Given the description of an element on the screen output the (x, y) to click on. 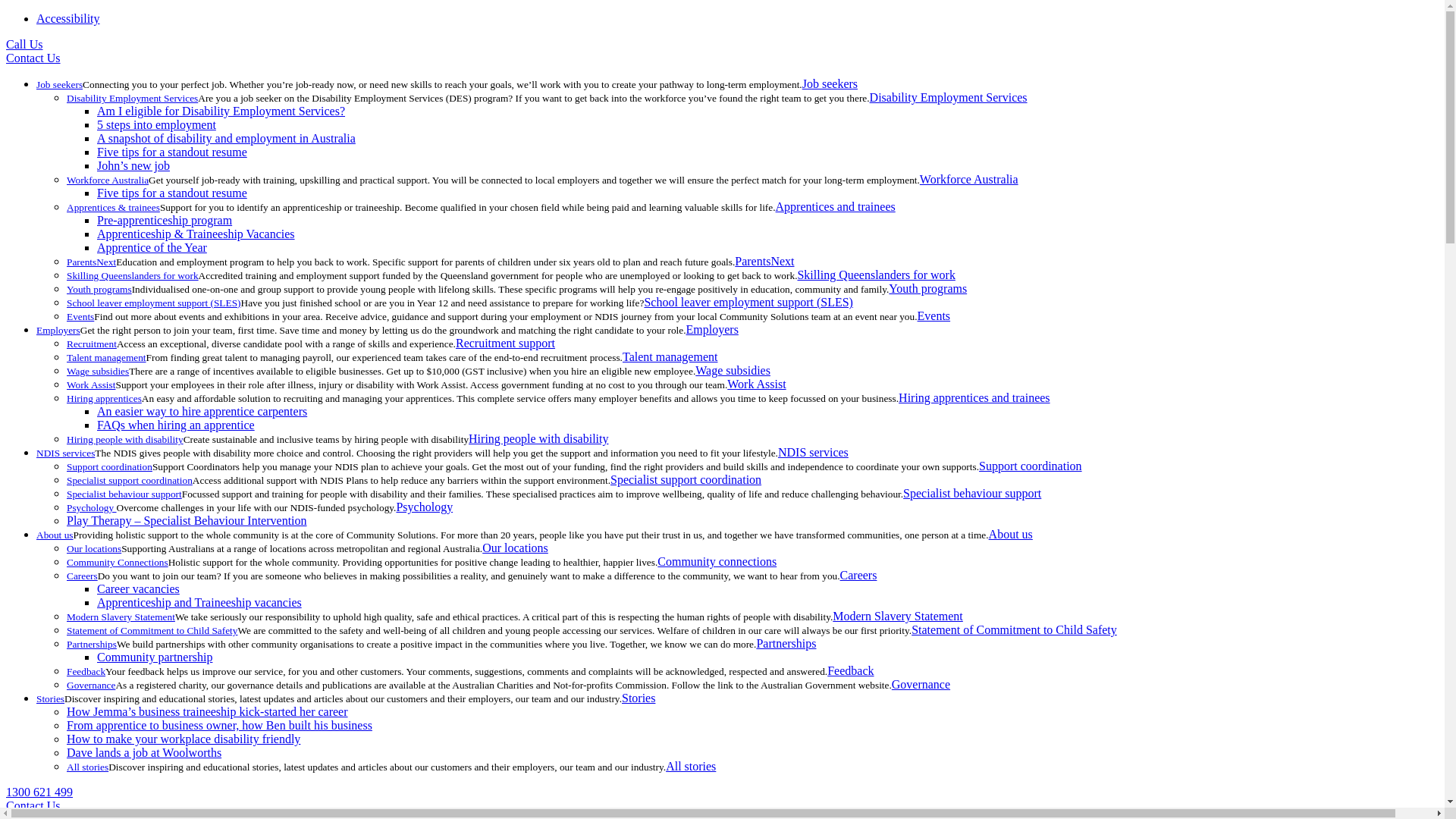
Our locations Element type: text (515, 547)
Disability Employment Services Element type: text (131, 97)
Five tips for a standout resume Element type: text (172, 192)
Accessibility Element type: text (68, 18)
Employers Element type: text (712, 329)
A snapshot of disability and employment in Australia Element type: text (226, 137)
Skilling Queenslanders for work Element type: text (875, 274)
Talent management Element type: text (106, 357)
Support coordination Element type: text (109, 466)
FAQs when hiring an apprentice Element type: text (175, 424)
Events Element type: text (933, 315)
Pre-apprenticeship program Element type: text (164, 219)
Modern Slavery Statement Element type: text (120, 616)
Specialist behaviour support Element type: text (124, 493)
1300 621 499 Element type: text (39, 791)
About us Element type: text (1010, 533)
About us Element type: text (54, 534)
Work Assist Element type: text (90, 384)
Hiring people with disability Element type: text (124, 439)
Stories Element type: text (50, 698)
NDIS services Element type: text (65, 452)
Apprentices & trainees Element type: text (113, 207)
Recruitment support Element type: text (505, 342)
Community Connections Element type: text (117, 561)
Work Assist Element type: text (756, 383)
All stories Element type: text (87, 766)
Call Us Element type: text (24, 43)
Events Element type: text (80, 316)
Statement of Commitment to Child Safety Element type: text (151, 630)
Wage subsidies Element type: text (97, 370)
Dave lands a job at Woolworths Element type: text (143, 752)
Five tips for a standout resume Element type: text (172, 151)
Community partnership Element type: text (154, 656)
Workforce Australia Element type: text (968, 178)
5 steps into employment Element type: text (156, 124)
Community connections Element type: text (716, 561)
Stories Element type: text (638, 697)
Specialist support coordination Element type: text (129, 480)
ParentsNext Element type: text (91, 261)
Statement of Commitment to Child Safety Element type: text (1014, 629)
ParentsNext Element type: text (763, 260)
Apprentices and trainees Element type: text (835, 206)
Workforce Australia Element type: text (107, 179)
Wage subsidies Element type: text (732, 370)
Career vacancies Element type: text (138, 588)
Specialist support coordination Element type: text (685, 479)
Hiring people with disability Element type: text (538, 438)
Youth programs Element type: text (98, 288)
Job seekers Element type: text (829, 83)
Hiring apprentices Element type: text (103, 398)
Hiring apprentices and trainees Element type: text (973, 397)
Am I eligible for Disability Employment Services? Element type: text (221, 110)
How to make your workplace disability friendly Element type: text (183, 738)
Employers Element type: text (58, 329)
Careers Element type: text (81, 575)
Apprenticeship and Traineeship vacancies Element type: text (199, 602)
An easier way to hire apprentice carpenters Element type: text (202, 410)
Apprentice of the Year Element type: text (152, 247)
School leaver employment support (SLES) Element type: text (748, 301)
Talent management Element type: text (670, 356)
Governance Element type: text (90, 684)
Modern Slavery Statement Element type: text (897, 615)
Psychology Element type: text (423, 506)
Apprenticeship & Traineeship Vacancies Element type: text (195, 233)
Contact Us Element type: text (33, 57)
School leaver employment support (SLES) Element type: text (153, 302)
Youth programs Element type: text (927, 288)
Feedback Element type: text (850, 670)
All stories Element type: text (690, 765)
Our locations Element type: text (93, 548)
Recruitment Element type: text (91, 343)
Specialist behaviour support Element type: text (972, 492)
Governance Element type: text (920, 683)
Contact Us Element type: text (33, 805)
Psychology Element type: text (91, 507)
NDIS services Element type: text (813, 451)
Support coordination Element type: text (1030, 465)
Feedback Element type: text (85, 671)
Job seekers Element type: text (59, 84)
Partnerships Element type: text (91, 643)
Careers Element type: text (858, 574)
Partnerships Element type: text (785, 643)
Disability Employment Services Element type: text (948, 97)
Skilling Queenslanders for work Element type: text (132, 275)
